Given the description of an element on the screen output the (x, y) to click on. 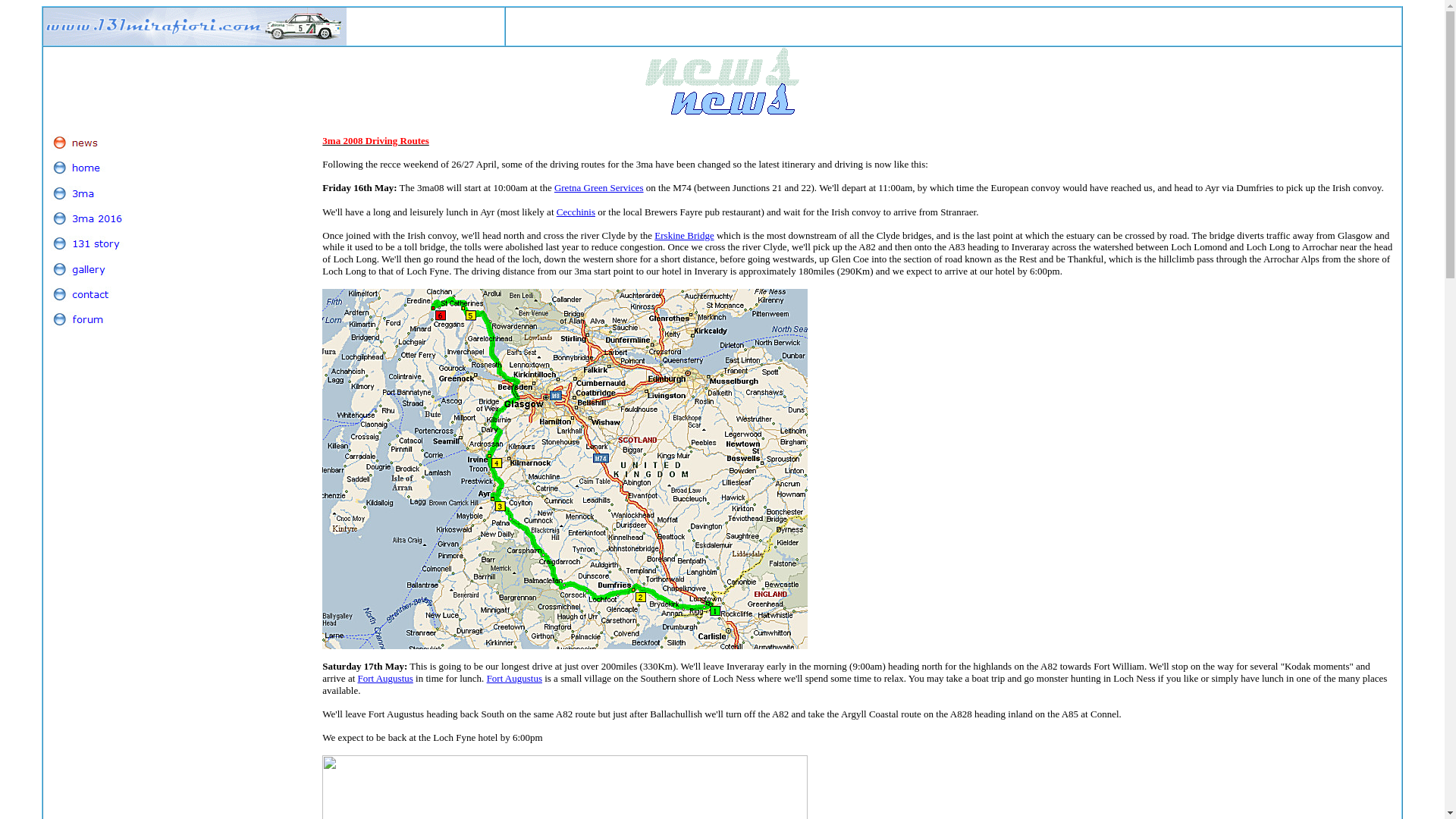
Gretna Green Services Element type: text (598, 187)
Fort Augustus Element type: text (514, 678)
Erskine Bridge Element type: text (683, 235)
Cecchinis Element type: text (575, 211)
Fort Augustus Element type: text (385, 678)
